Given the description of an element on the screen output the (x, y) to click on. 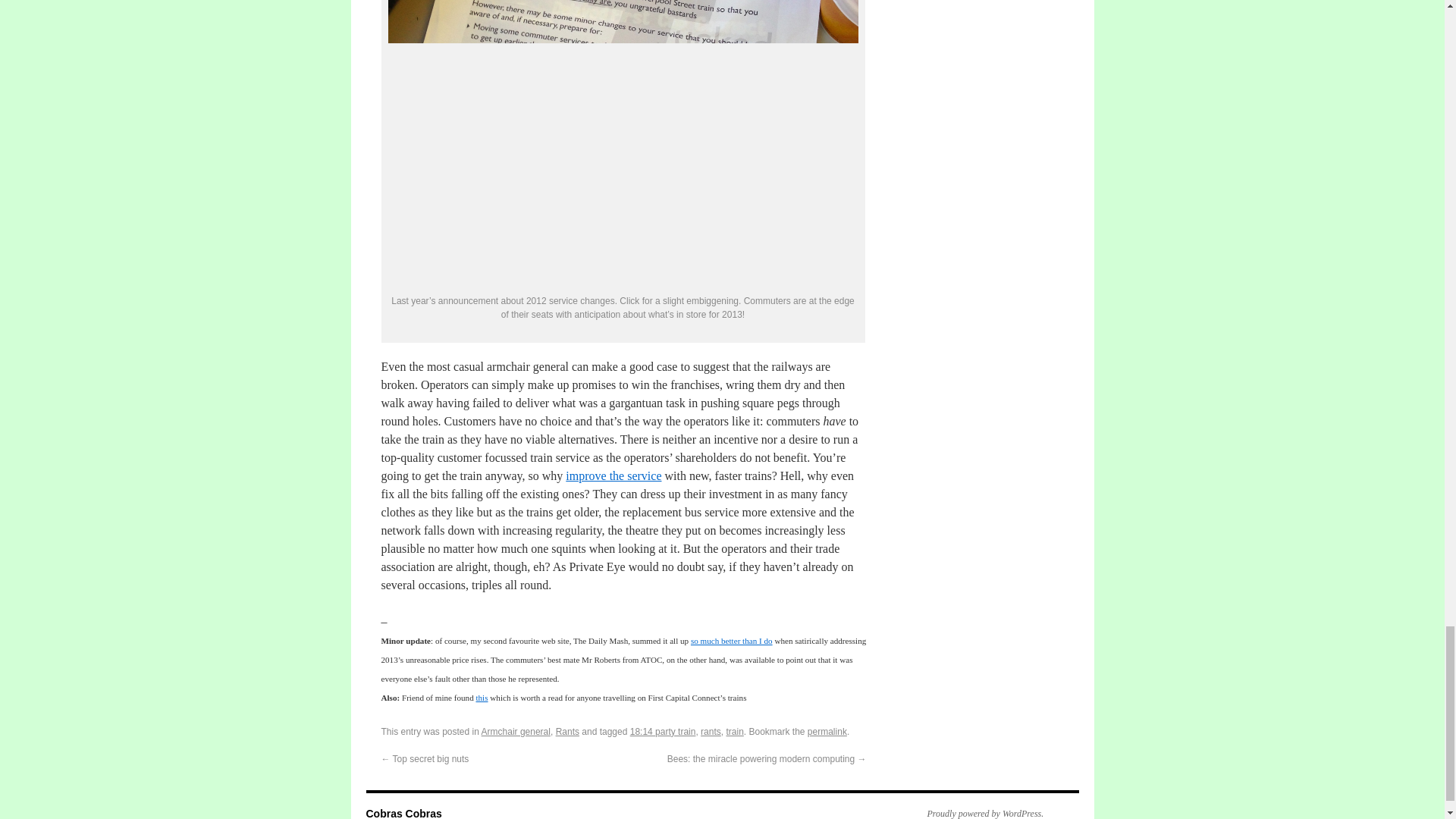
train (733, 731)
improve the service (613, 475)
Armchair general (515, 731)
this (481, 696)
permalink (827, 731)
Permalink to Duh duh duh. Duh duh duh. Duh duh duh (827, 731)
so much better than I do (731, 640)
18:14 party train (662, 731)
rants (710, 731)
Rants (567, 731)
